Given the description of an element on the screen output the (x, y) to click on. 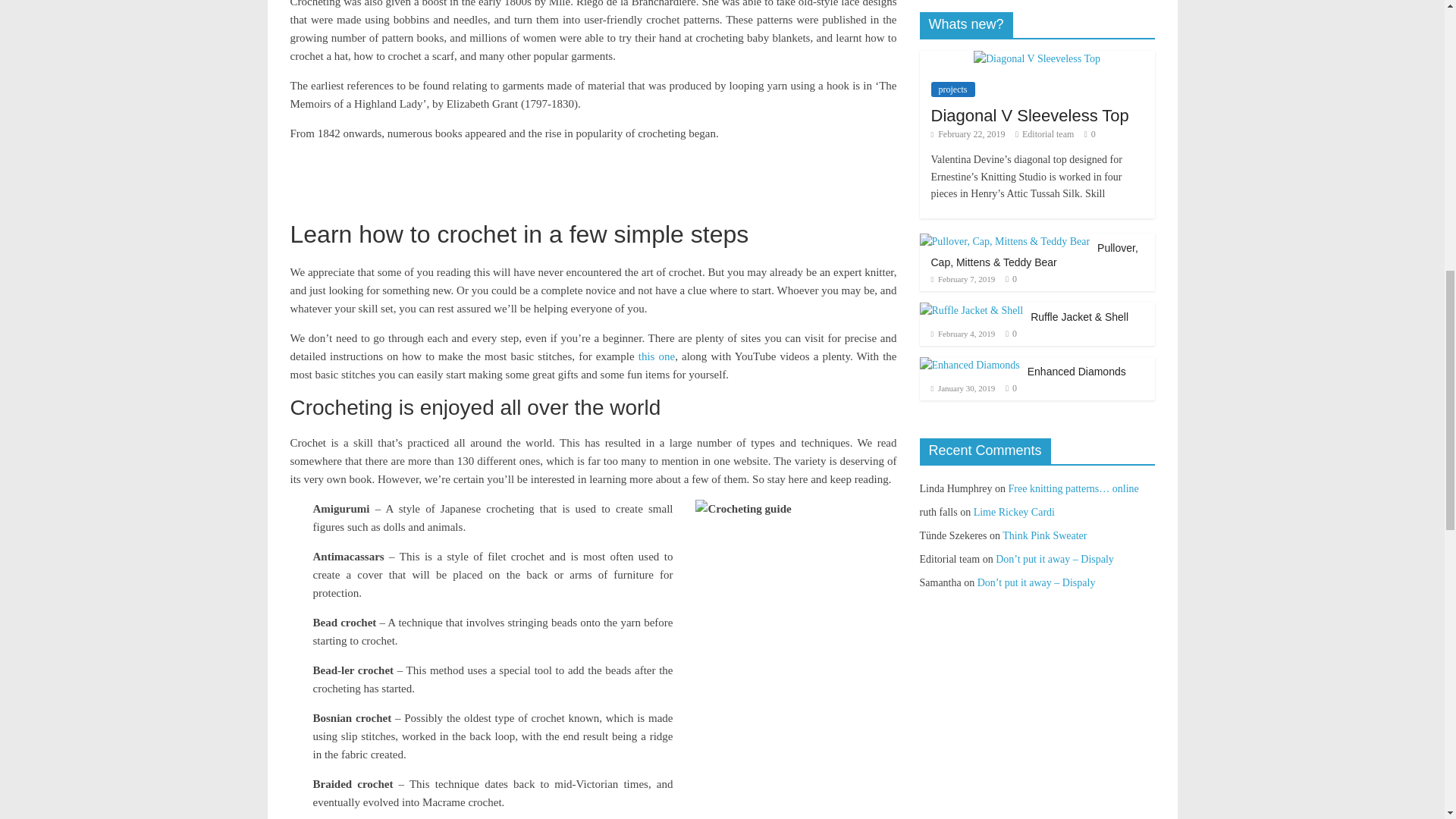
Diagonal V Sleeveless Top (1030, 115)
Diagonal V Sleeveless Top (1037, 58)
February 22, 2019 (968, 133)
Editorial team (1048, 133)
Editorial team (1048, 133)
Diagonal V Sleeveless Top (1037, 58)
Diagonal V Sleeveless Top (1030, 115)
projects (953, 89)
this one (657, 356)
10:14 am (968, 133)
